Given the description of an element on the screen output the (x, y) to click on. 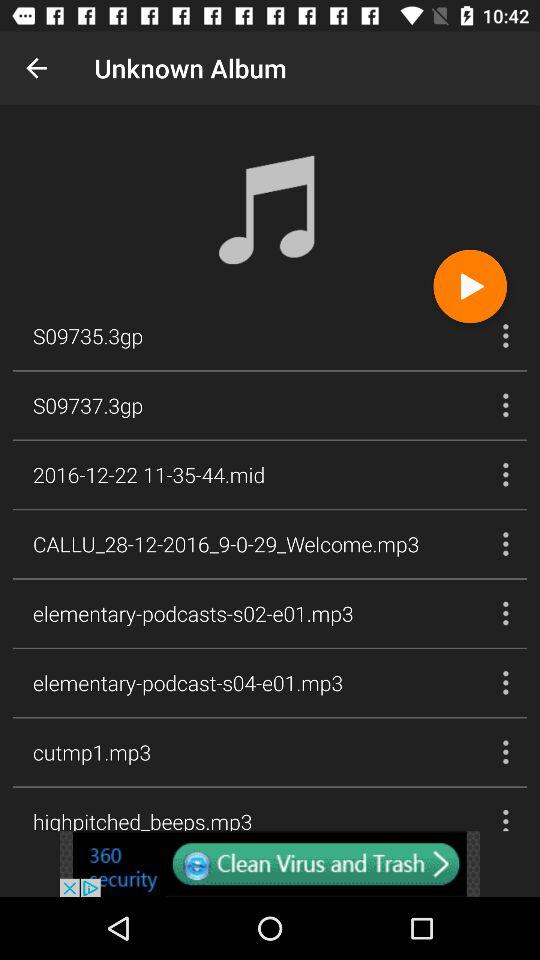
go to another site (270, 864)
